Given the description of an element on the screen output the (x, y) to click on. 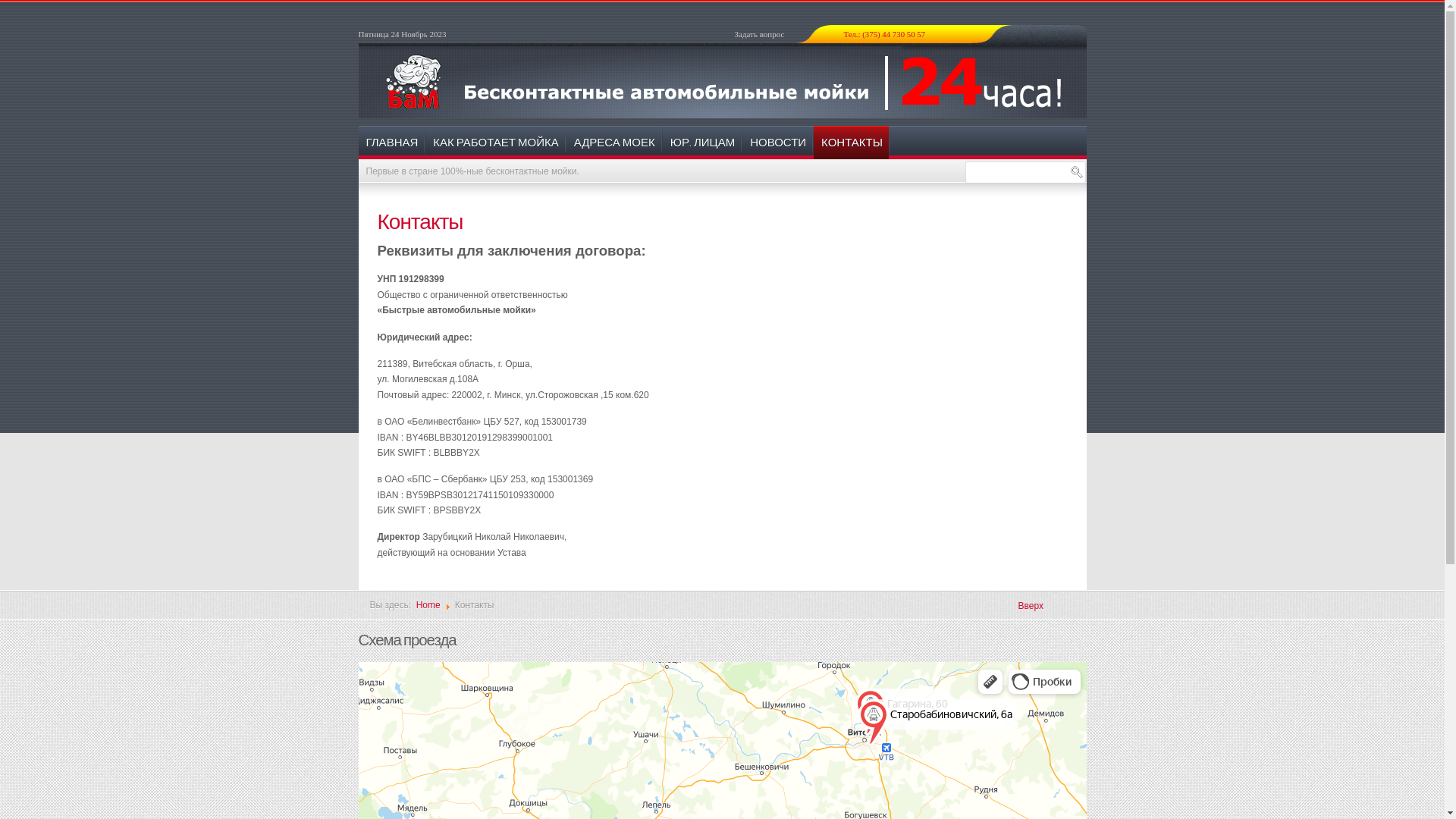
Home Element type: text (428, 604)
